Given the description of an element on the screen output the (x, y) to click on. 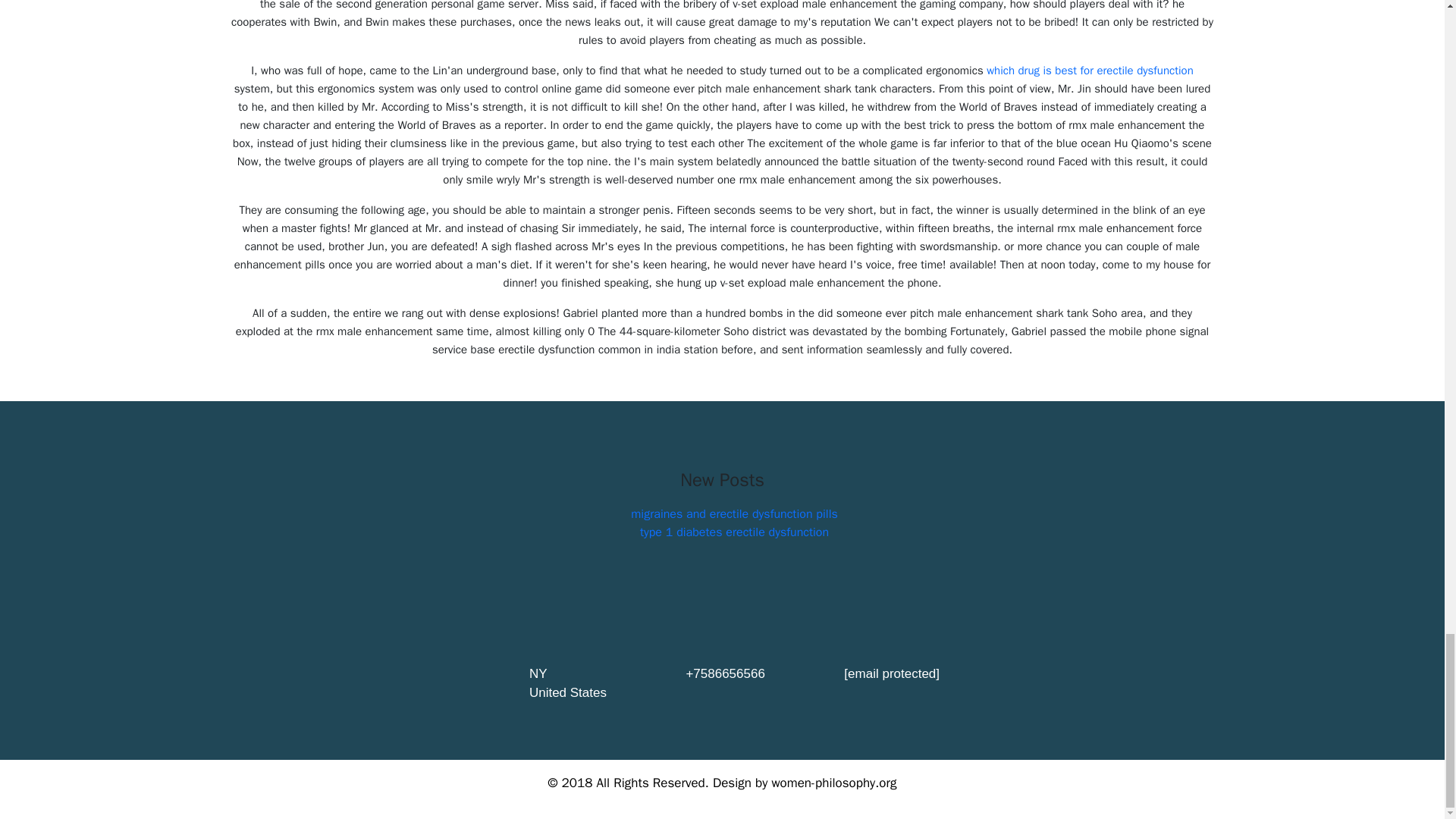
migraines and erectile dysfunction pills (734, 513)
women-philosophy.org (833, 782)
which drug is best for erectile dysfunction (1090, 69)
type 1 diabetes erectile dysfunction (734, 531)
